Given the description of an element on the screen output the (x, y) to click on. 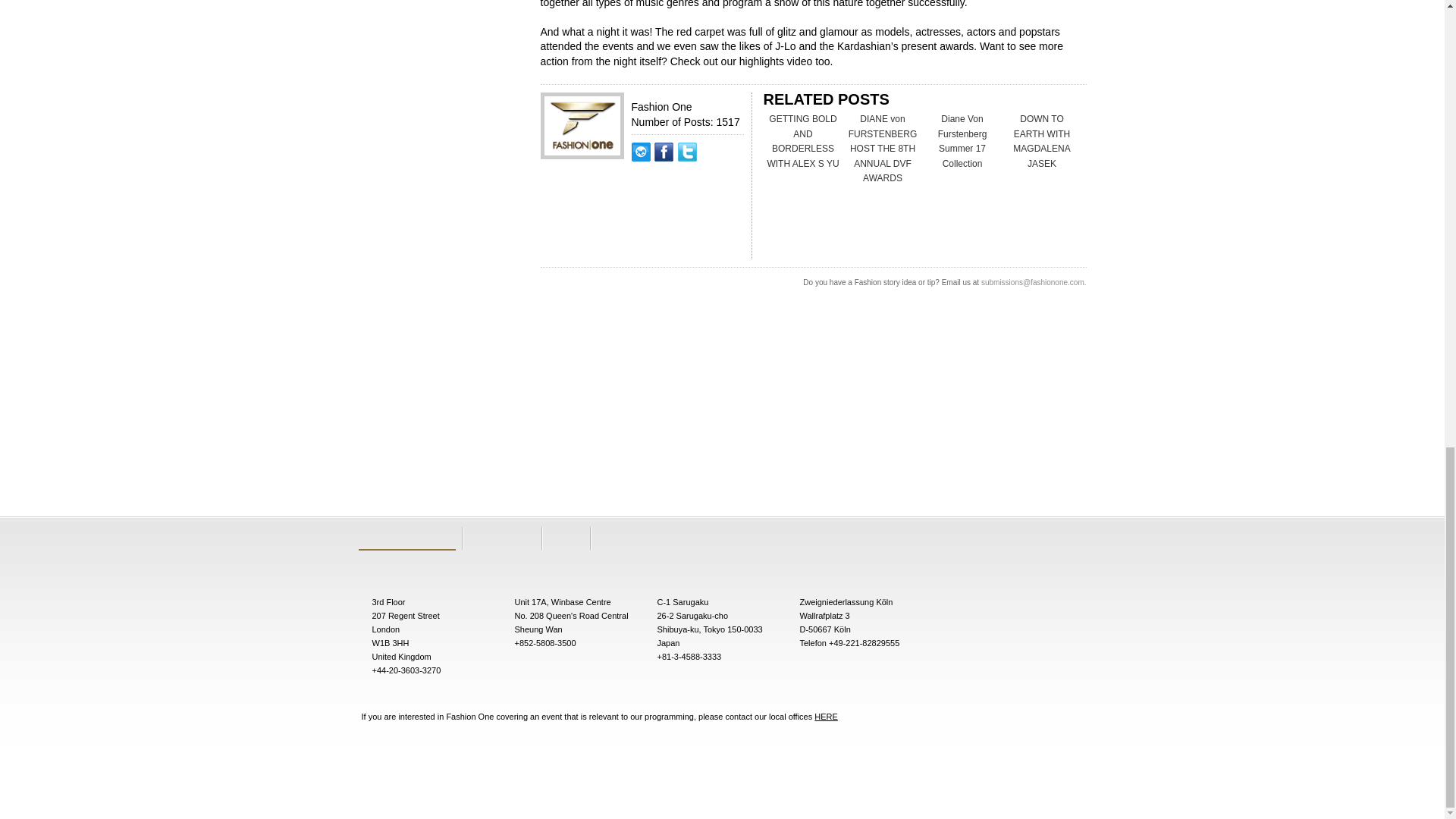
Twitter (687, 176)
Website (641, 176)
Facebook (665, 176)
